Given the description of an element on the screen output the (x, y) to click on. 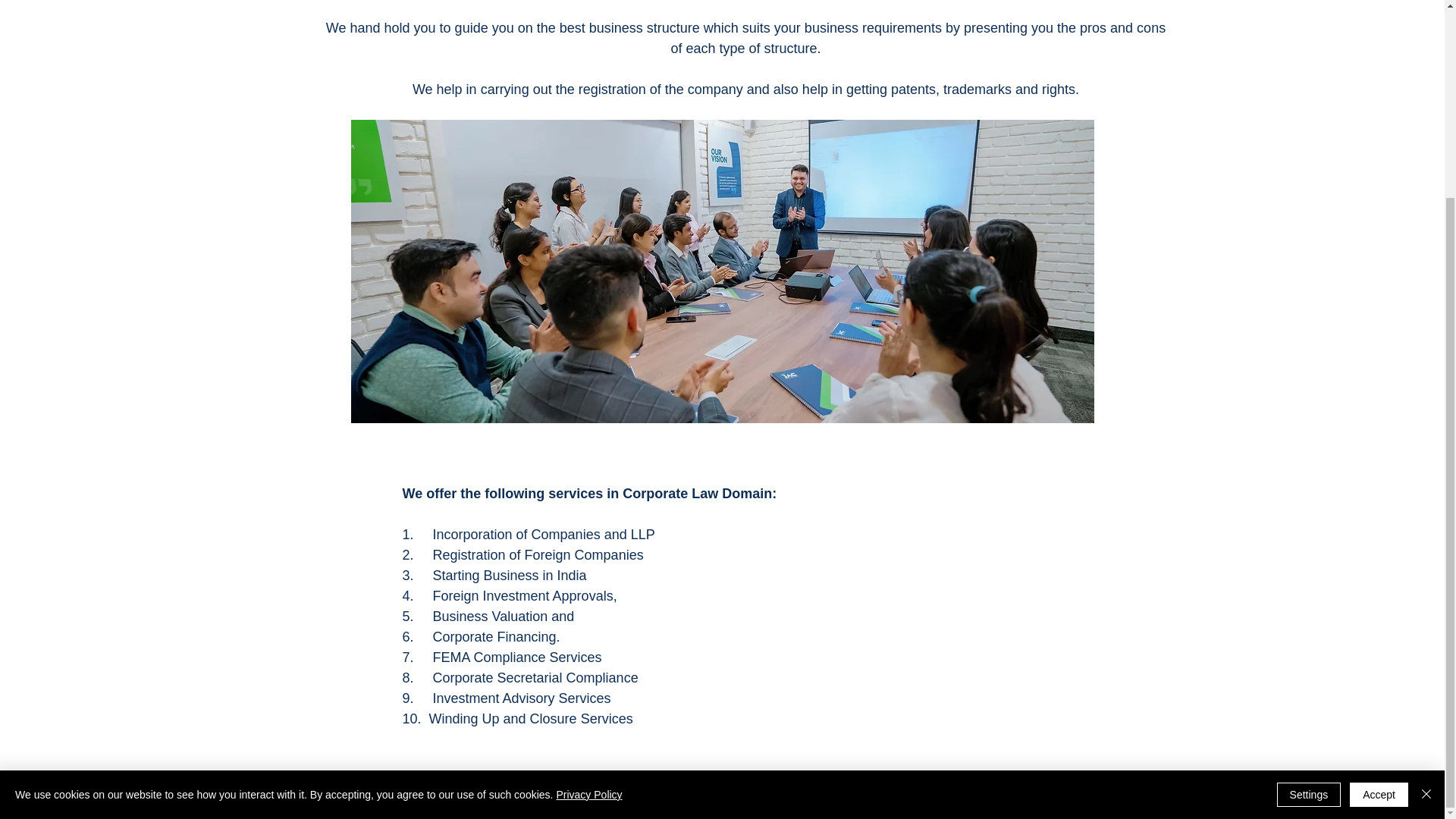
Settings (1308, 544)
Privacy Policy (588, 544)
Accept (1378, 544)
